Given the description of an element on the screen output the (x, y) to click on. 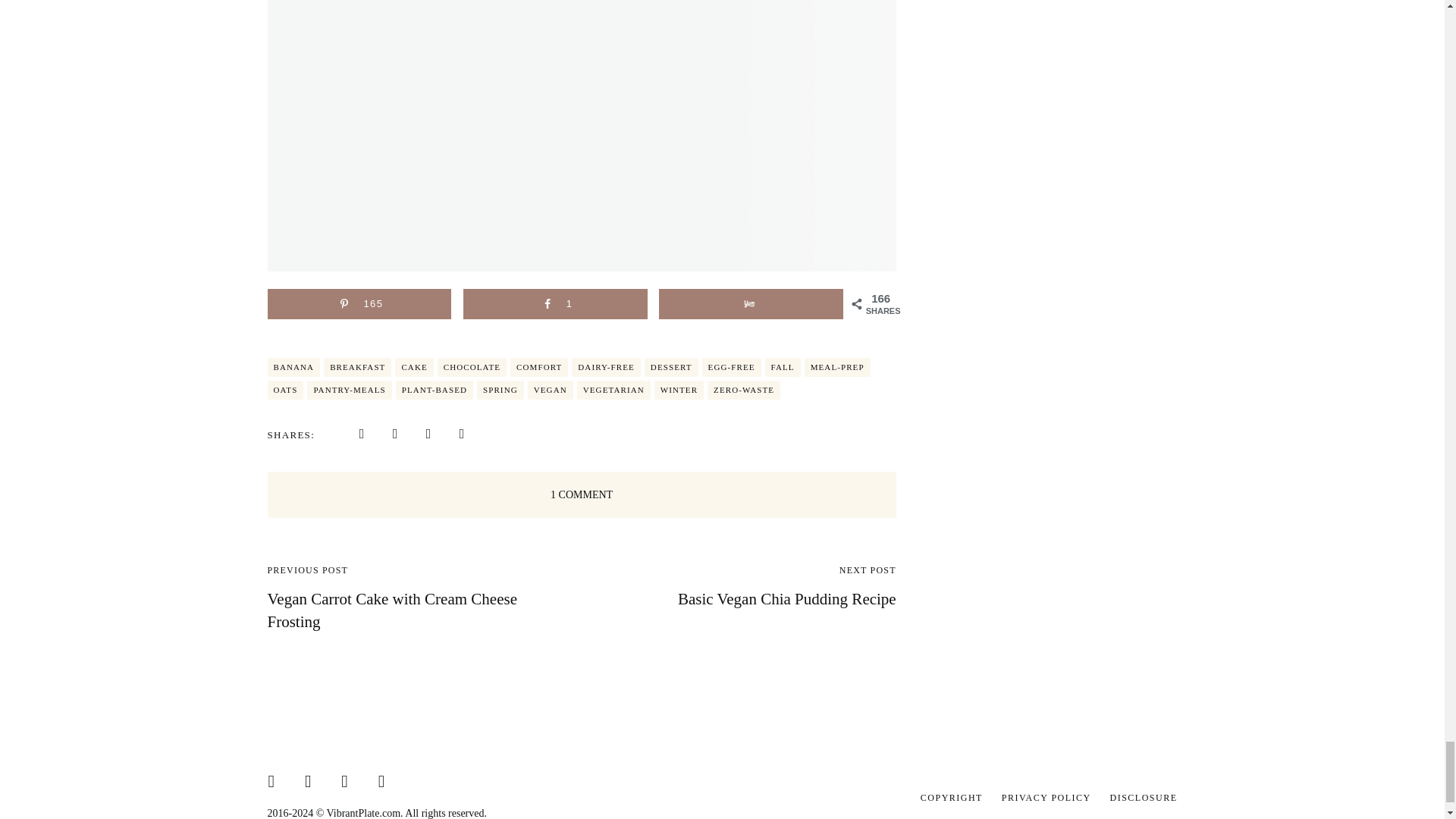
Save to Pinterest (358, 304)
